Given the description of an element on the screen output the (x, y) to click on. 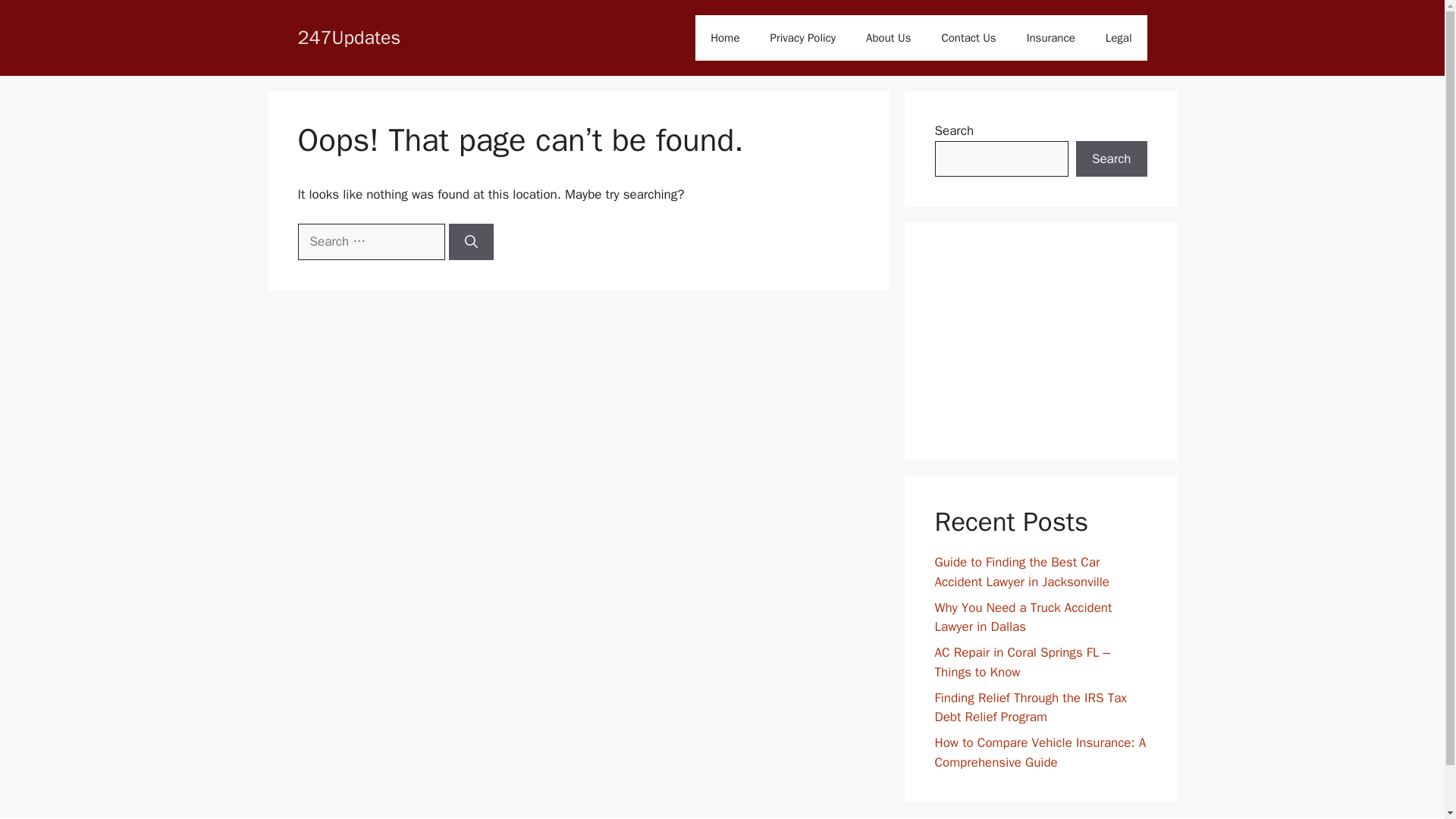
Insurance (1050, 37)
Home (724, 37)
Contact Us (968, 37)
About Us (888, 37)
Search (1111, 158)
Legal (1118, 37)
Privacy Policy (803, 37)
How to Compare Vehicle Insurance: A Comprehensive Guide (1039, 752)
Finding Relief Through the IRS Tax Debt Relief Program (1029, 707)
